Given the description of an element on the screen output the (x, y) to click on. 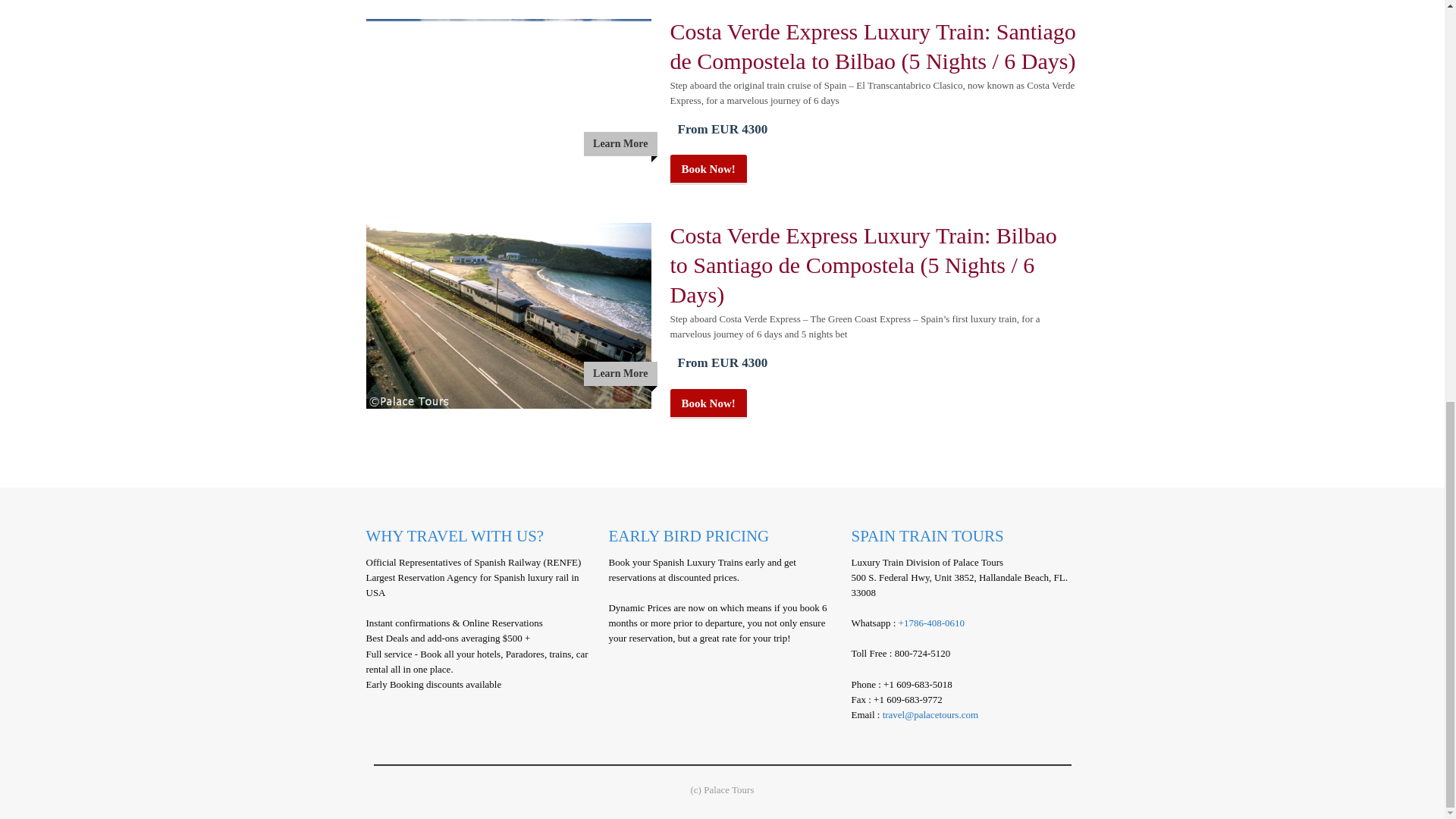
Learn More (507, 314)
Learn More (507, 98)
Book Now! (707, 169)
Book Now! (707, 404)
